Given the description of an element on the screen output the (x, y) to click on. 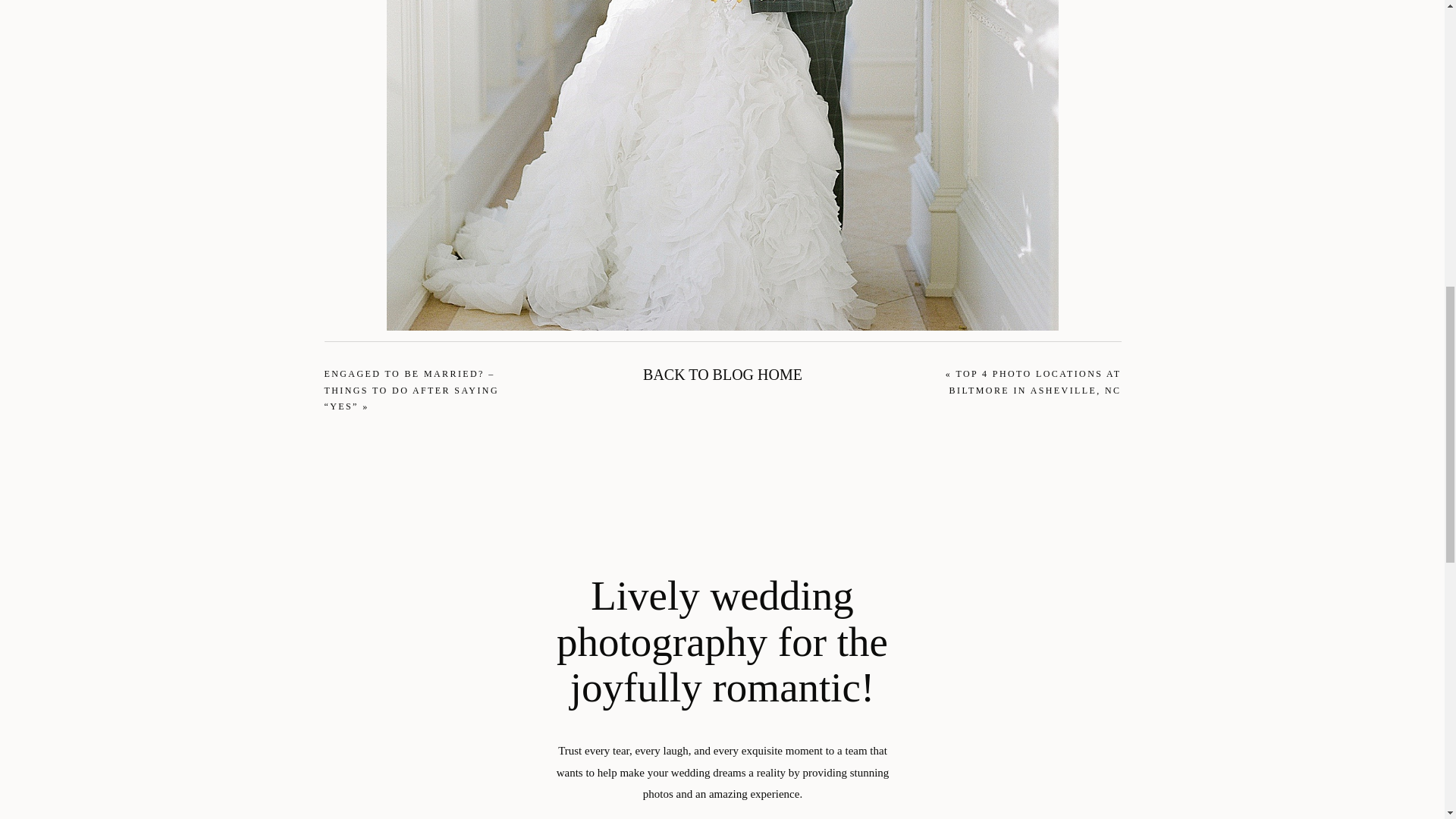
Lively wedding photography for the joyfully romantic! (722, 641)
Ysa Makino (705, 648)
BACK TO BLOG HOME (721, 378)
TOP 4 PHOTO LOCATIONS AT BILTMORE IN ASHEVILLE, NC (1035, 381)
Weddings by Debbie (569, 648)
